Given the description of an element on the screen output the (x, y) to click on. 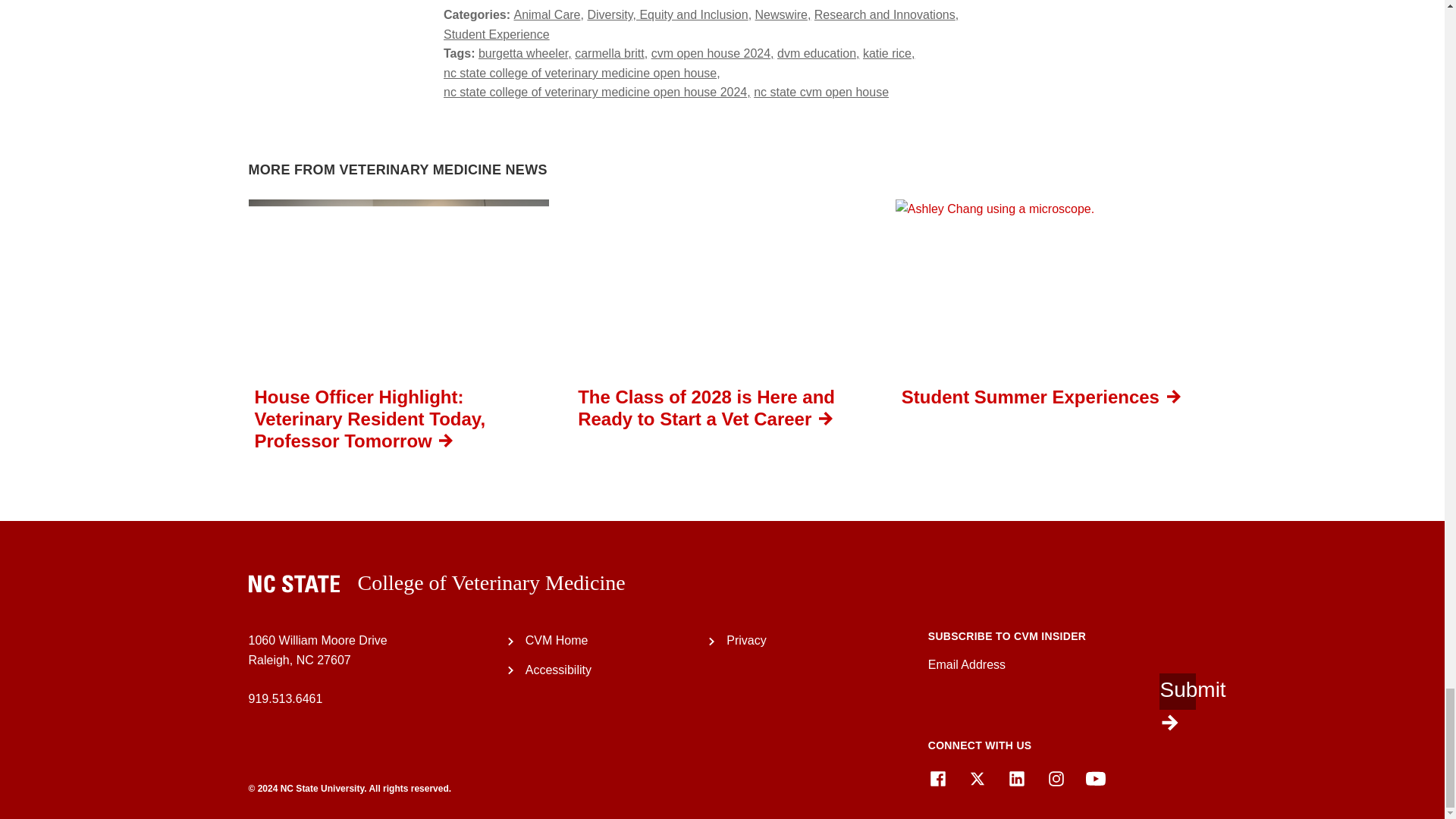
LinkedIn (1016, 778)
YouTube (1095, 778)
Instagram (1055, 778)
X (977, 778)
Facebook (937, 778)
